Given the description of an element on the screen output the (x, y) to click on. 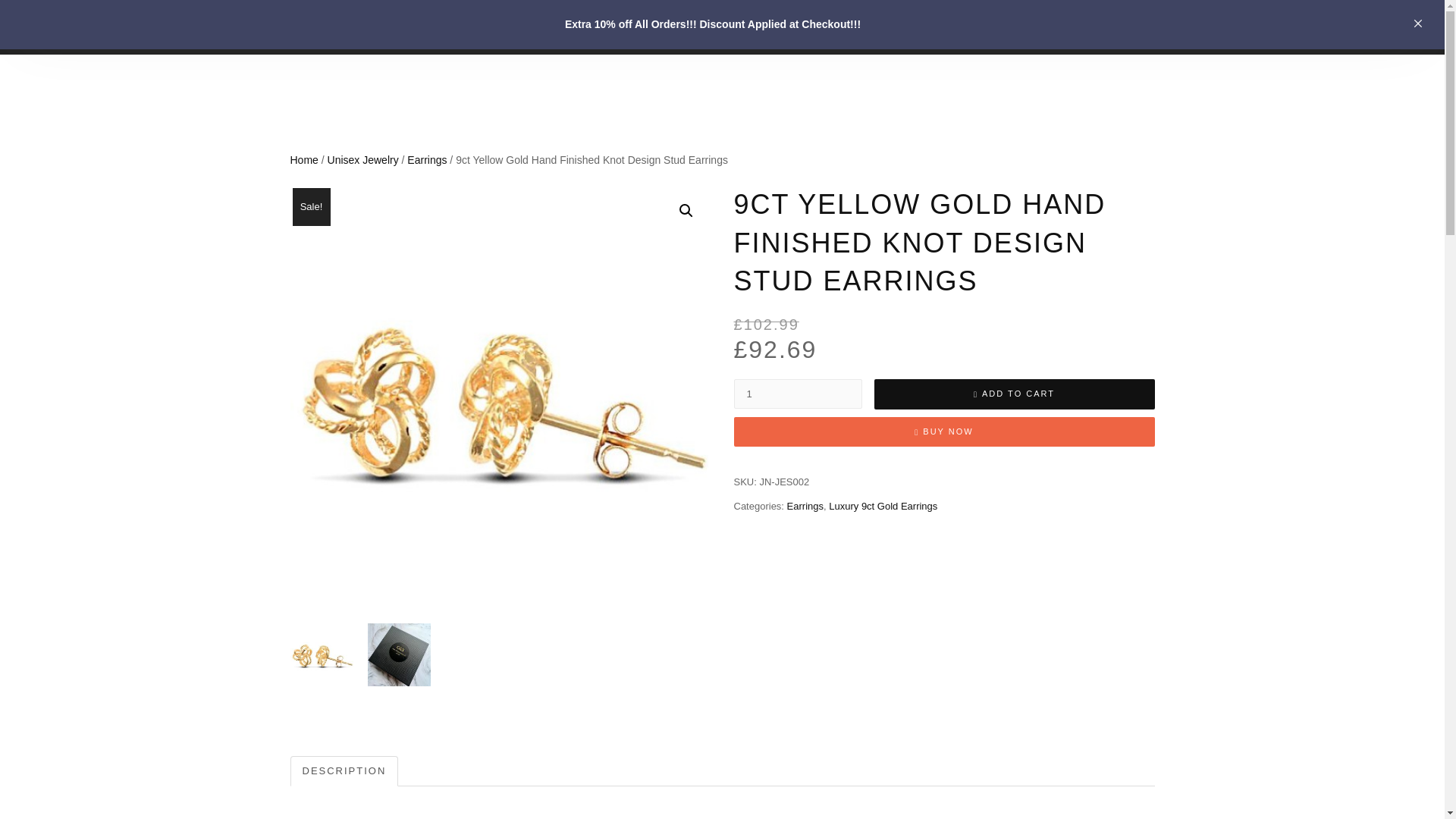
Qty (798, 393)
1 (798, 393)
DIAMOND (999, 17)
View your shopping cart (1139, 23)
LUXURY JEWELRY (361, 36)
CONTACT US (937, 36)
CHECKOUT (838, 36)
MENS JEWELRY (698, 17)
BLOG (1069, 36)
CART (1070, 17)
ABOUT US (594, 17)
HOME (520, 17)
WOMENS JEWELRY (828, 17)
Luxury Jewelry (361, 36)
FAQ (1014, 36)
